Given the description of an element on the screen output the (x, y) to click on. 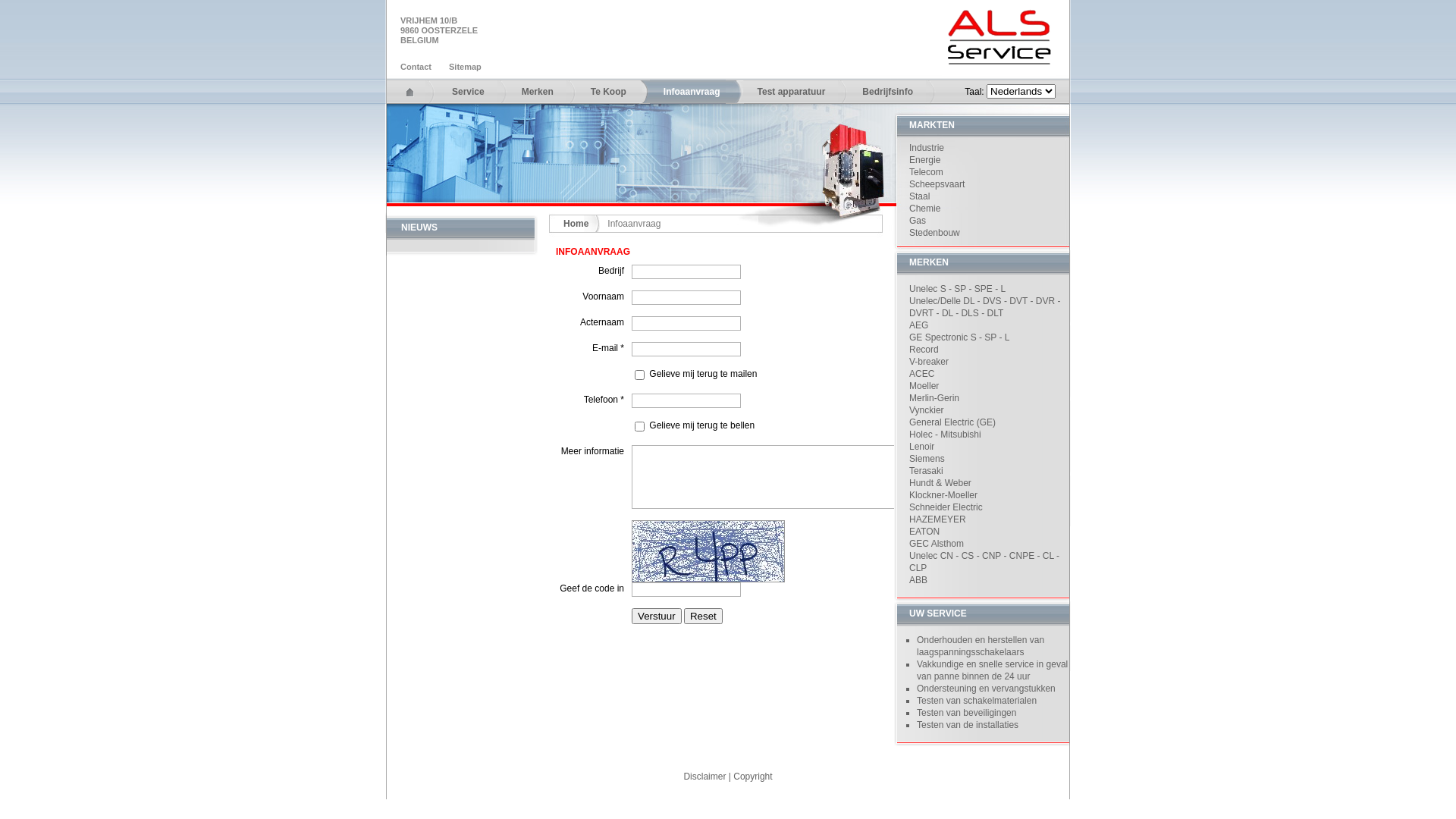
Verstuur Element type: text (656, 616)
Infoaanvraag Element type: text (687, 91)
Home Element type: text (581, 223)
Sitemap Element type: text (468, 66)
Copyright Element type: text (752, 776)
Contact Element type: text (419, 66)
Bedrijfsinfo Element type: text (883, 91)
Disclaimer Element type: text (704, 776)
Merken Element type: text (533, 91)
Te Koop Element type: text (604, 91)
Test apparatuur Element type: text (787, 91)
Service Element type: text (463, 91)
